Given the description of an element on the screen output the (x, y) to click on. 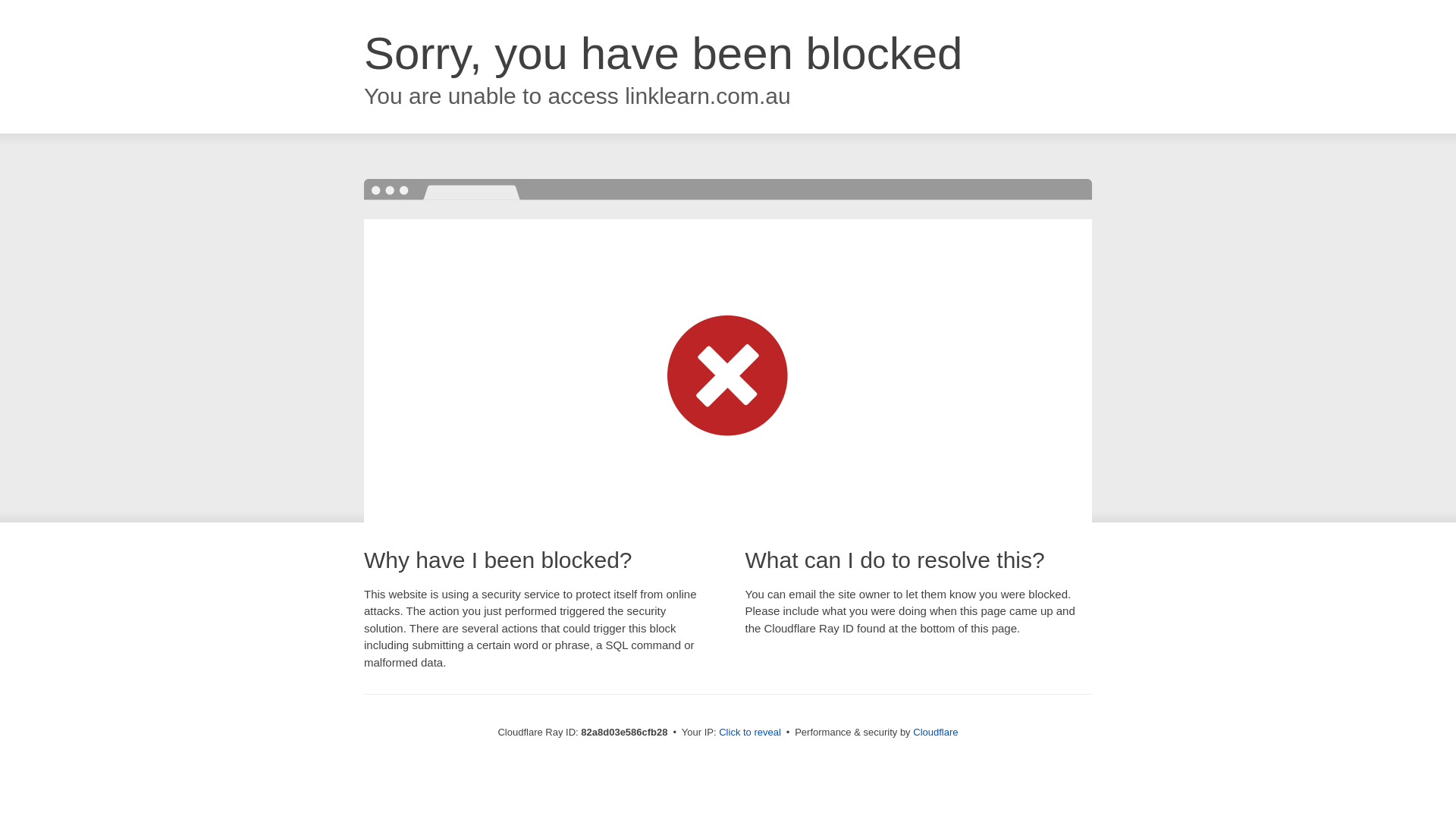
Cloudflare Element type: text (935, 731)
Click to reveal Element type: text (749, 732)
